Given the description of an element on the screen output the (x, y) to click on. 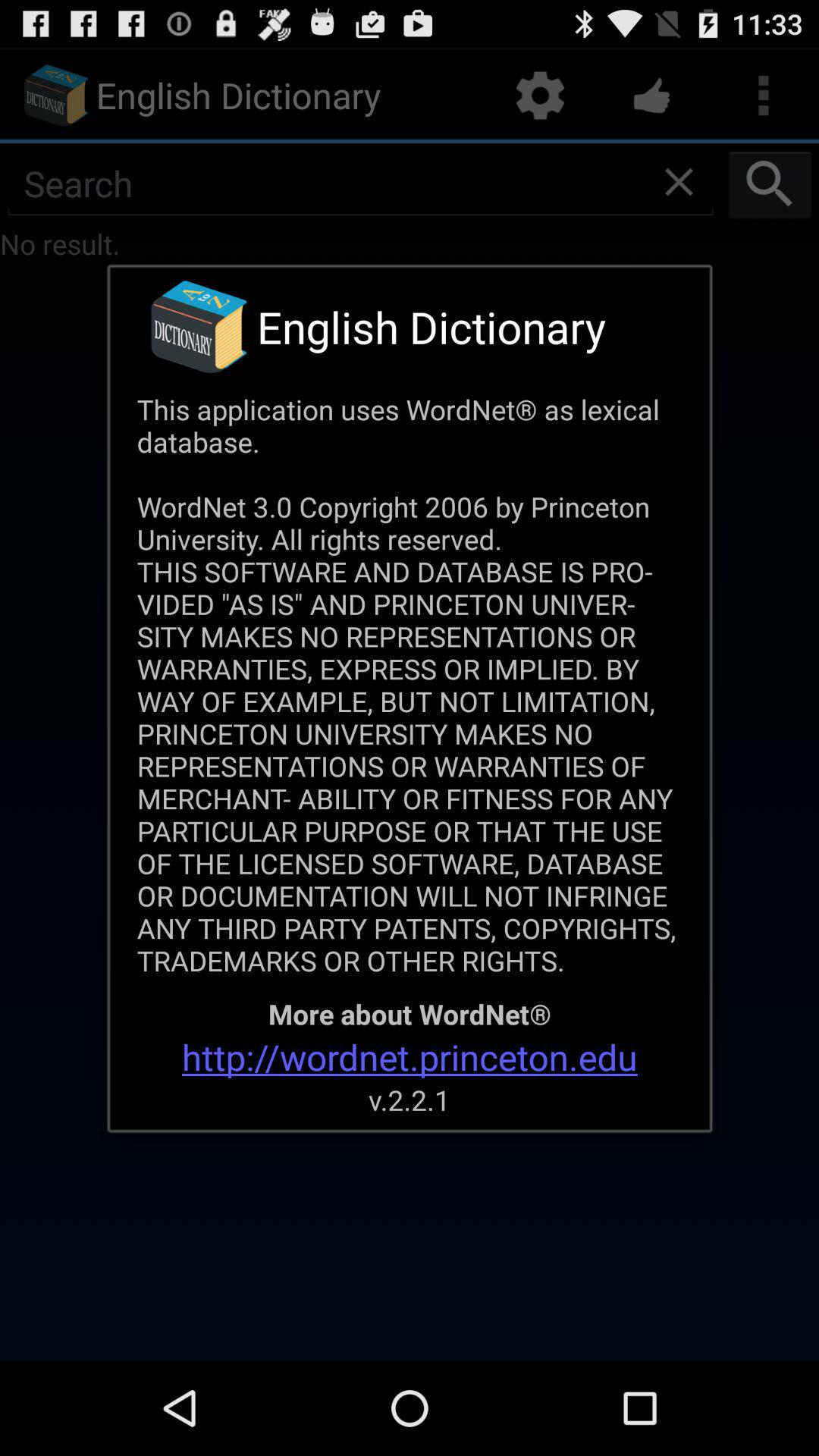
jump until http wordnet princeton icon (409, 1056)
